Given the description of an element on the screen output the (x, y) to click on. 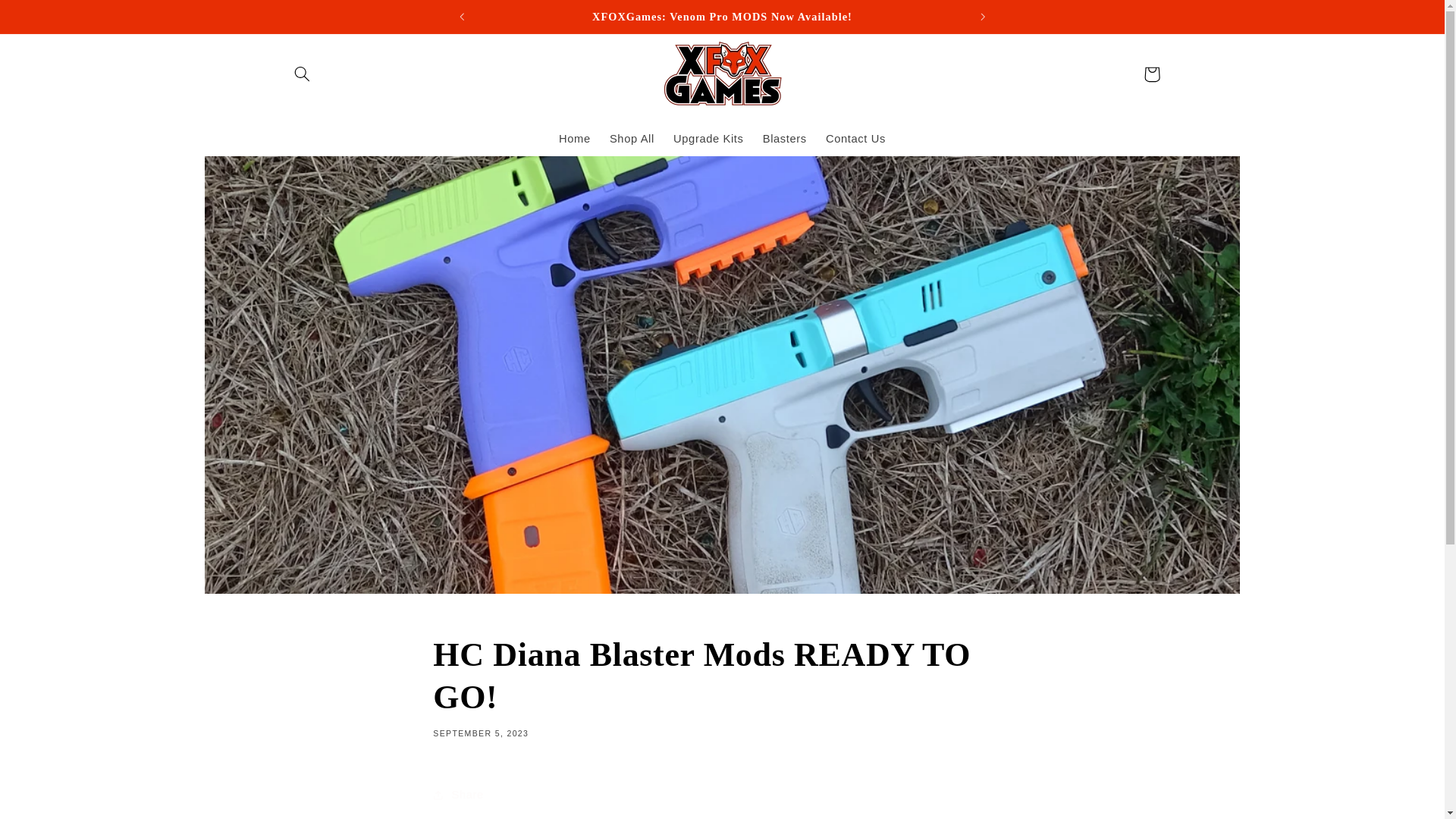
Skip to content (48, 18)
Upgrade Kits (707, 139)
Home (573, 139)
Cart (1151, 73)
Contact Us (855, 139)
Share (721, 795)
Blasters (783, 139)
Shop All (631, 139)
